Given the description of an element on the screen output the (x, y) to click on. 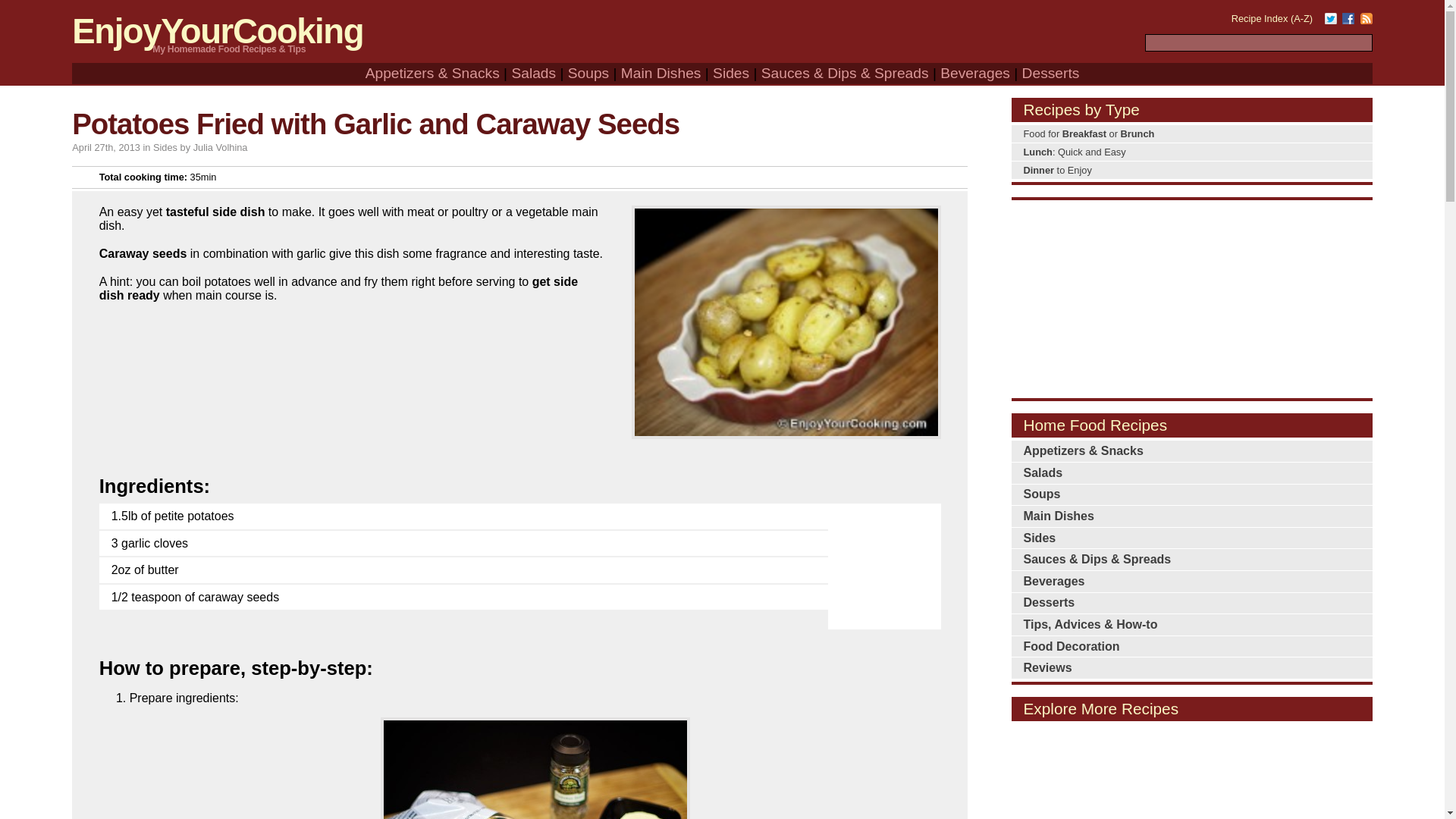
Advertisement (1192, 771)
EnjoyYourCooking Page on Facebook (1348, 15)
Desserts (1051, 73)
Soups (587, 73)
Advertisement (1192, 298)
Julia Volhina (220, 147)
Follow EnjoyYourCooking on Twitter (1330, 15)
Advertisement (887, 556)
Sides (164, 147)
Beverage Recipes (975, 73)
